Given the description of an element on the screen output the (x, y) to click on. 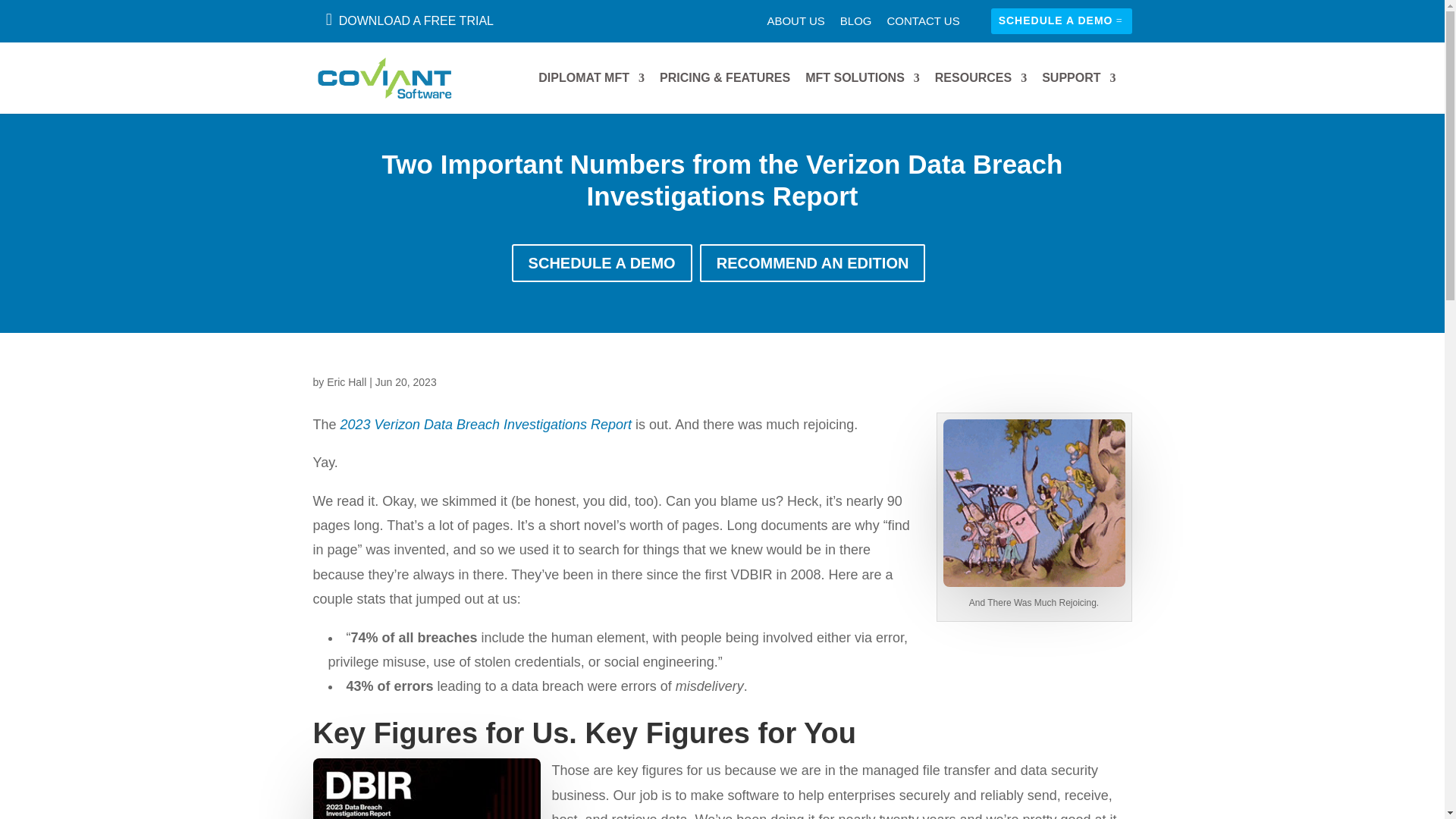
SCHEDULE A DEMO (1061, 21)
Posts by Eric Hall (346, 381)
DIPLOMAT MFT (591, 77)
BLOG (856, 23)
ABOUT US (795, 23)
RESOURCES (980, 77)
MFT SOLUTIONS (862, 77)
CONTACT US (922, 23)
